Given the description of an element on the screen output the (x, y) to click on. 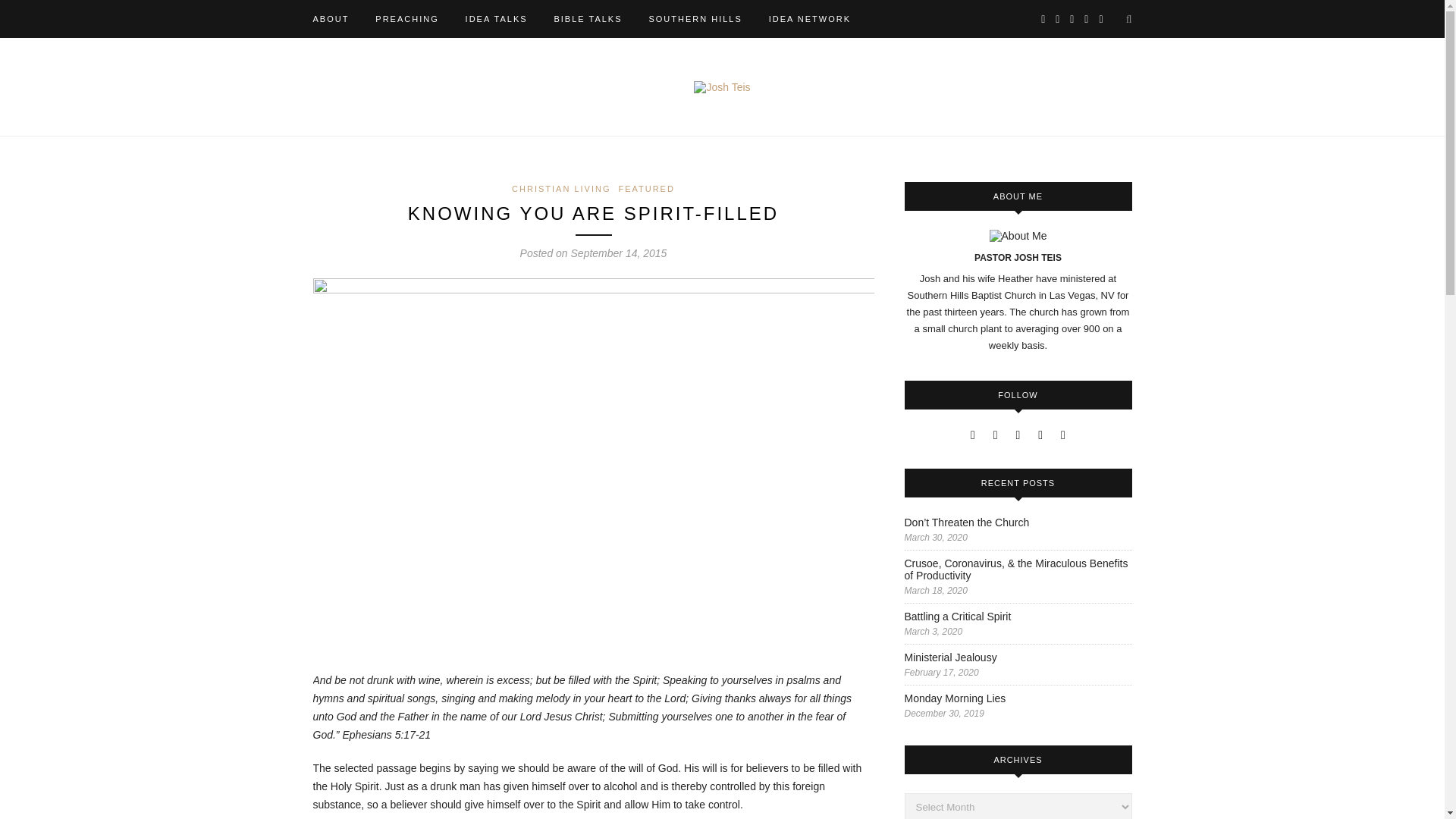
CHRISTIAN LIVING (561, 188)
PREACHING (406, 18)
SOUTHERN HILLS (694, 18)
ABOUT (331, 18)
IDEA TALKS (496, 18)
BIBLE TALKS (587, 18)
IDEA NETWORK (809, 18)
FEATURED (645, 188)
Page 14 (593, 744)
